Given the description of an element on the screen output the (x, y) to click on. 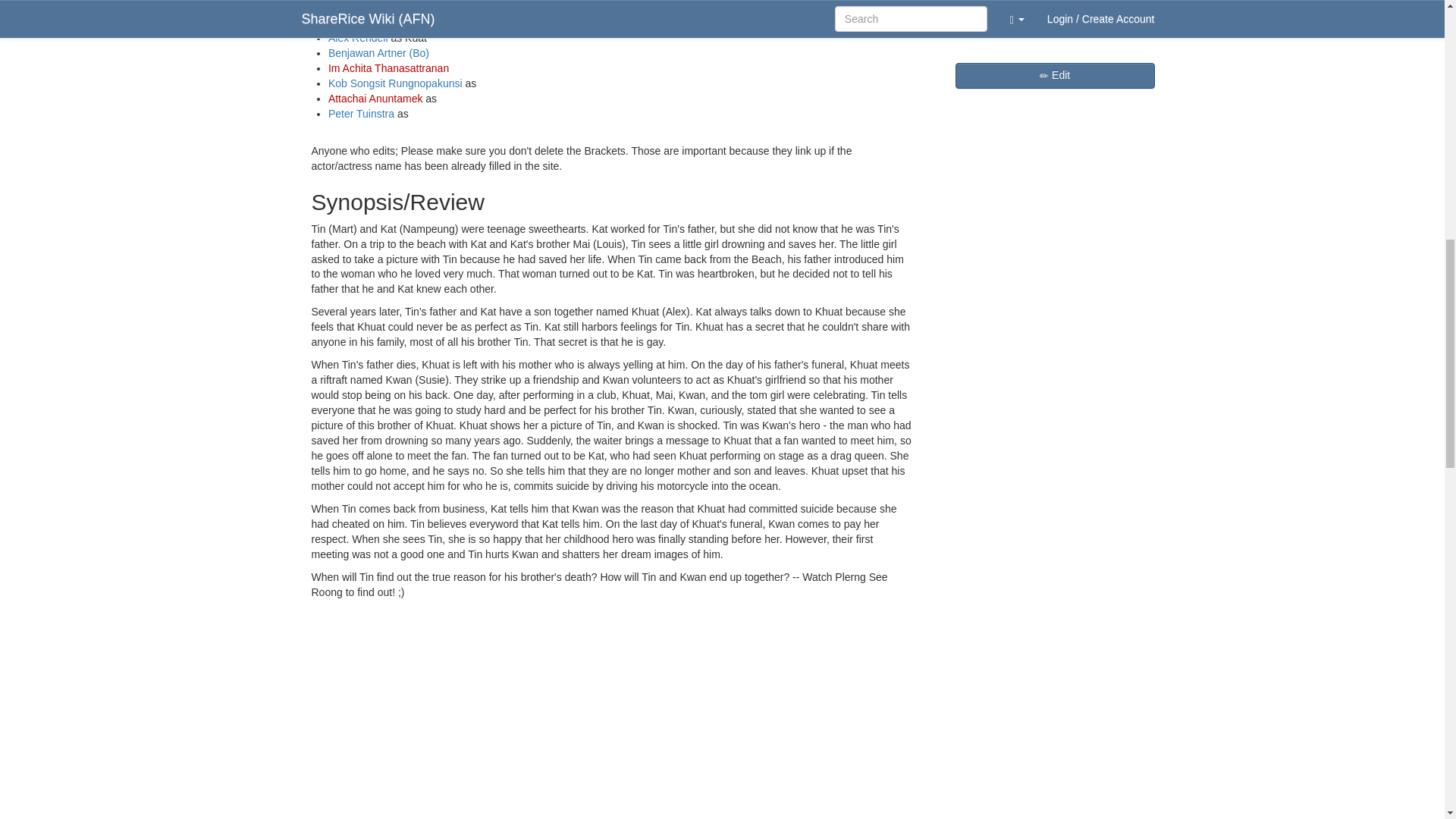
Natharika Thamapreedanan (394, 7)
Alex Rendell (358, 37)
Louis Scott (354, 22)
Louis Scott (354, 22)
Natharika Thamapreedanan (394, 7)
